Given the description of an element on the screen output the (x, y) to click on. 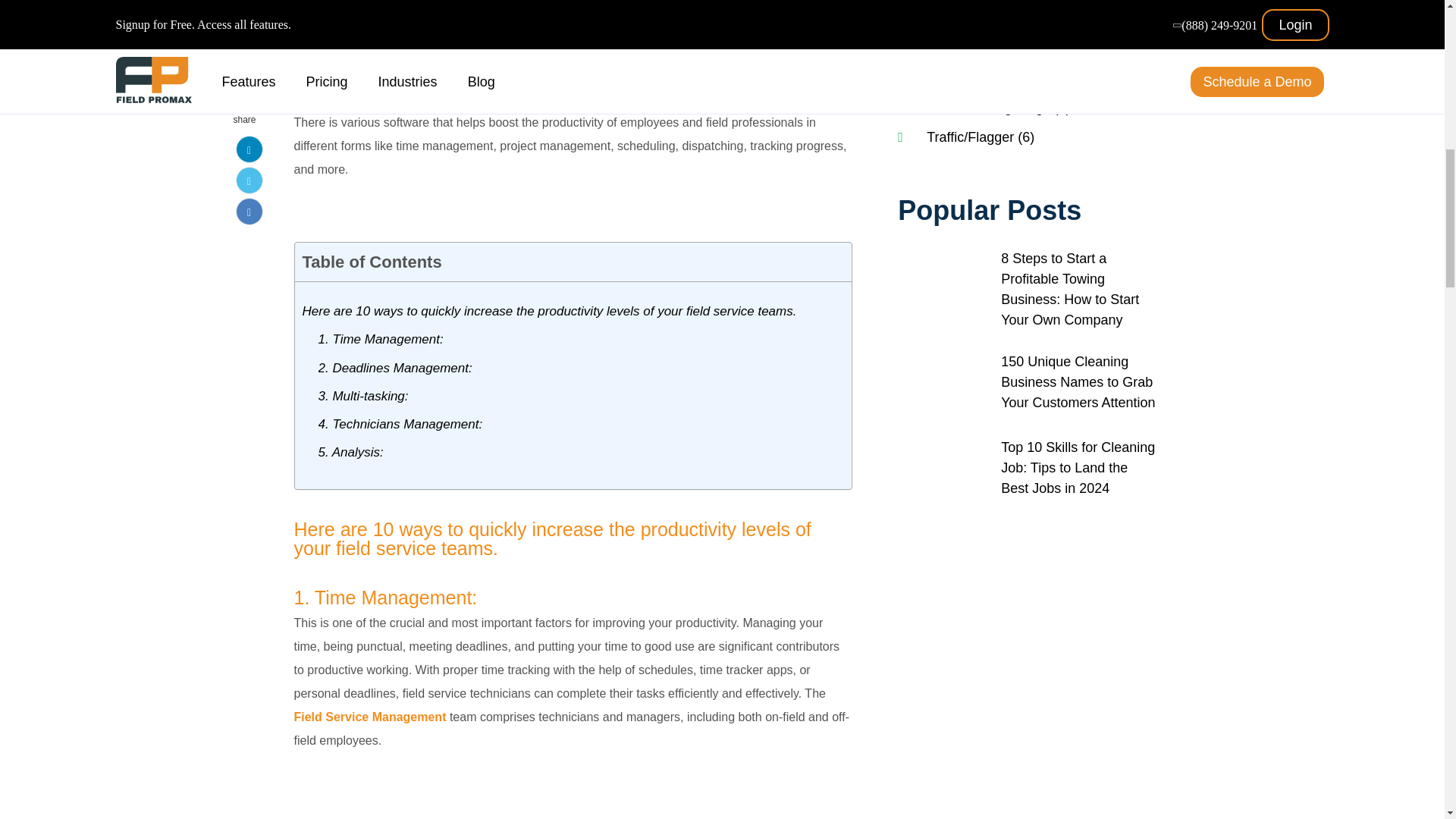
Field Service Management (370, 716)
2. Deadlines Management: (394, 367)
4. Technicians Management: (400, 424)
5. Analysis: (351, 452)
5. Analysis: (351, 452)
1. Time Management: (381, 339)
3. Multi-tasking: (363, 395)
3. Multi-tasking: (363, 395)
4. Technicians Management: (400, 424)
2. Deadlines Management: (394, 367)
1. Time Management: (381, 339)
